Given the description of an element on the screen output the (x, y) to click on. 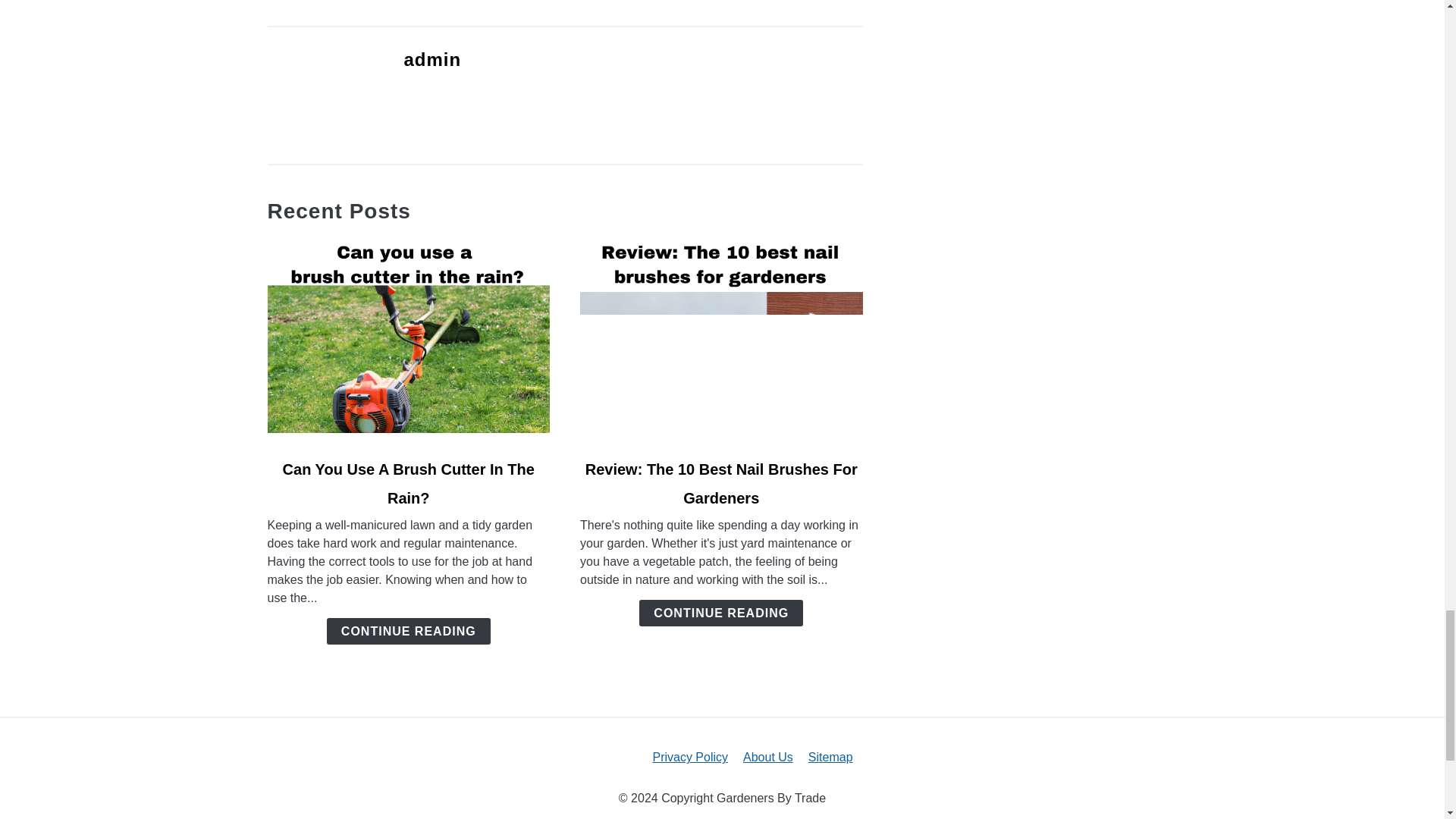
link to Review: The 10 Best Nail Brushes For Gardeners (721, 340)
About Us (767, 757)
CONTINUE READING (408, 631)
admin (432, 59)
link to Can You Use A Brush Cutter In The Rain? (408, 340)
Review: The 10 Best Nail Brushes For Gardeners (721, 483)
Sitemap (830, 757)
Privacy Policy (690, 757)
Can You Use A Brush Cutter In The Rain? (408, 483)
CONTINUE READING (721, 612)
